Given the description of an element on the screen output the (x, y) to click on. 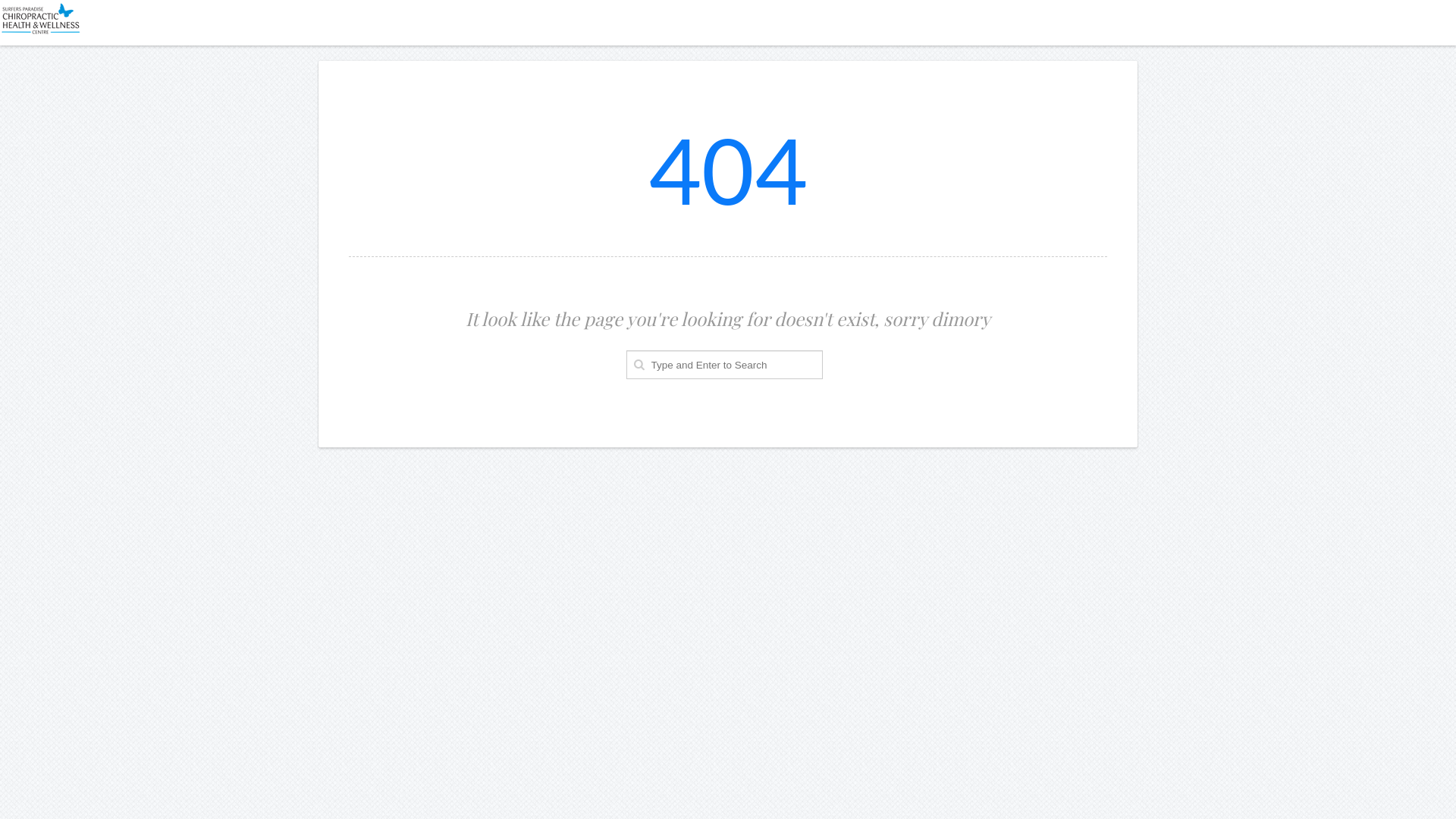
SEO Element type: text (701, 9)
SEOPressor Element type: text (794, 9)
